Given the description of an element on the screen output the (x, y) to click on. 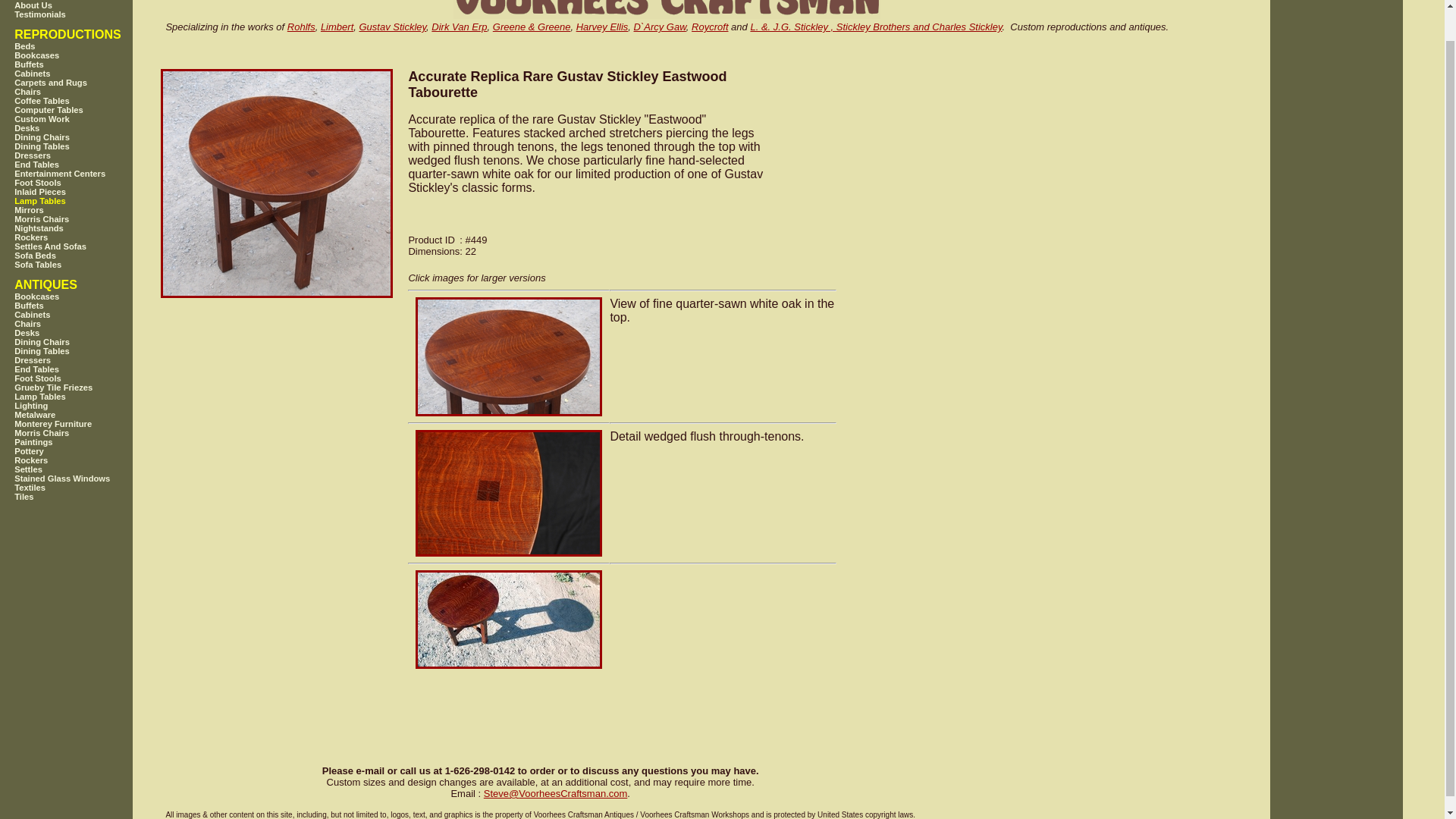
Testimonials (82, 13)
Dining Tables (82, 350)
Dressers (82, 359)
Sofa Tables (82, 264)
Dining Tables (82, 145)
Lamp Tables (82, 200)
End Tables (82, 368)
Mirrors (82, 209)
Desks (82, 127)
Computer Tables (82, 109)
Rockers (82, 236)
Inlaid Pieces (82, 191)
Nightstands (82, 227)
Chairs (82, 323)
